Given the description of an element on the screen output the (x, y) to click on. 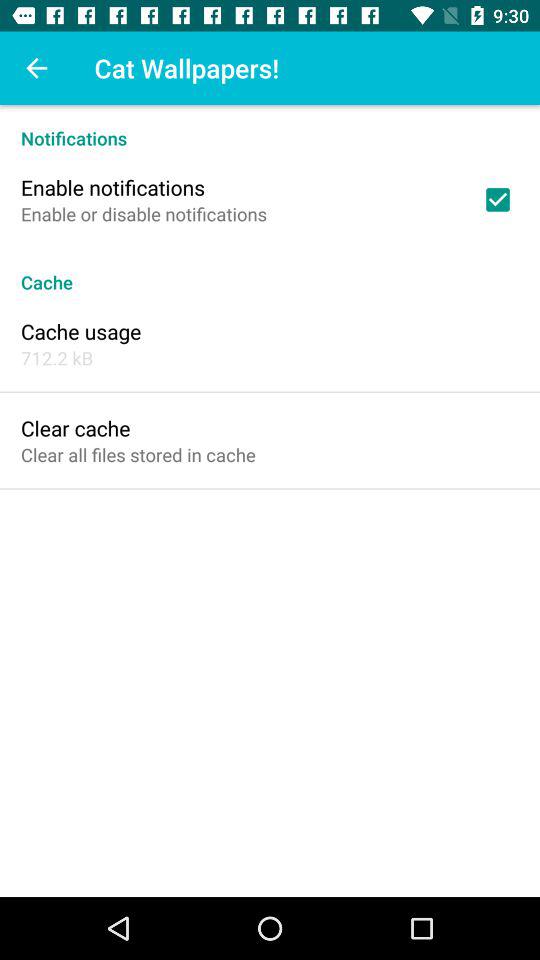
launch icon below enable notifications (143, 213)
